Given the description of an element on the screen output the (x, y) to click on. 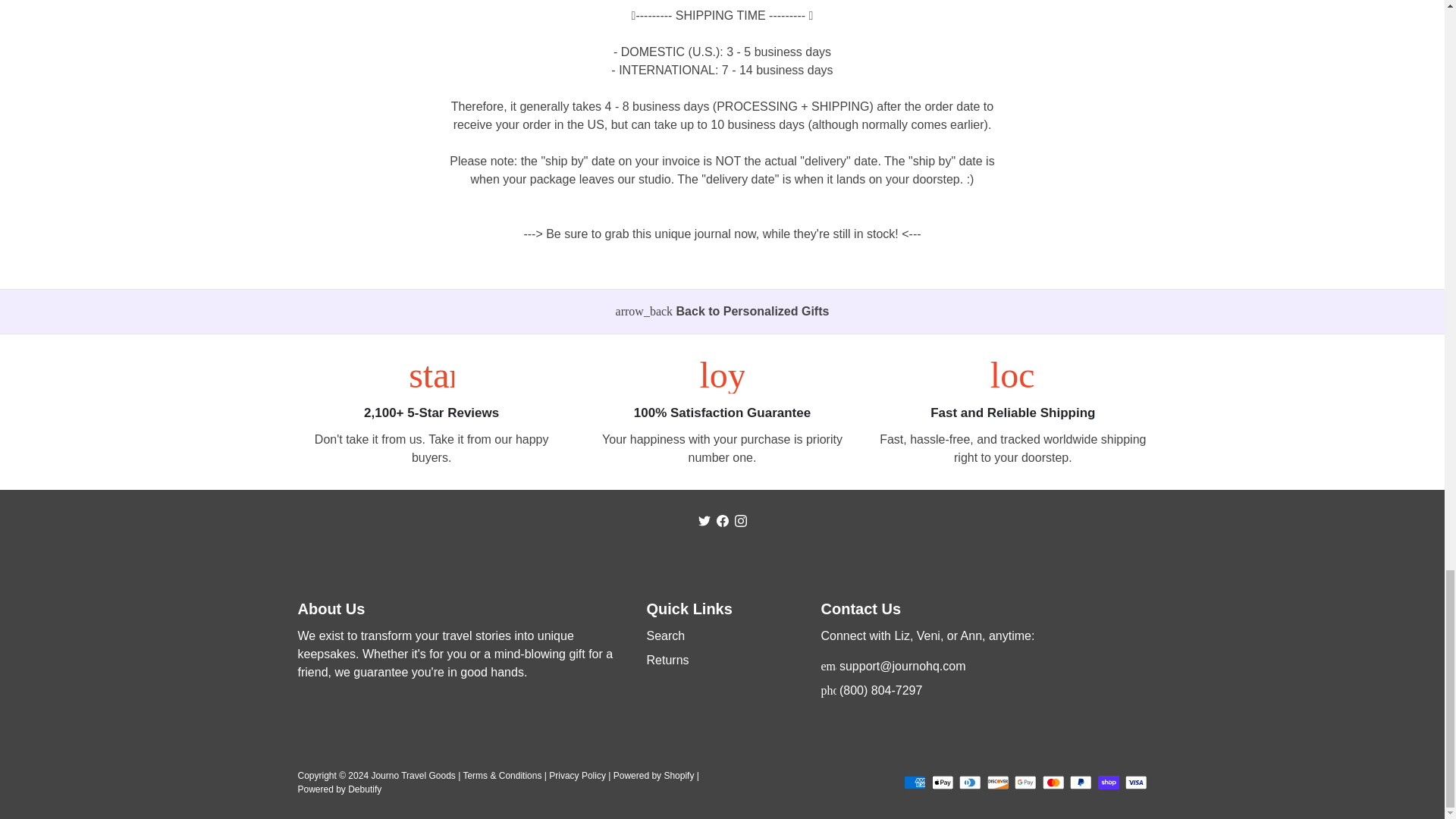
Google Pay (1025, 782)
Discover (998, 782)
Mastercard (1052, 782)
Diners Club (970, 782)
Apple Pay (941, 782)
PayPal (1081, 782)
American Express (915, 782)
